Given the description of an element on the screen output the (x, y) to click on. 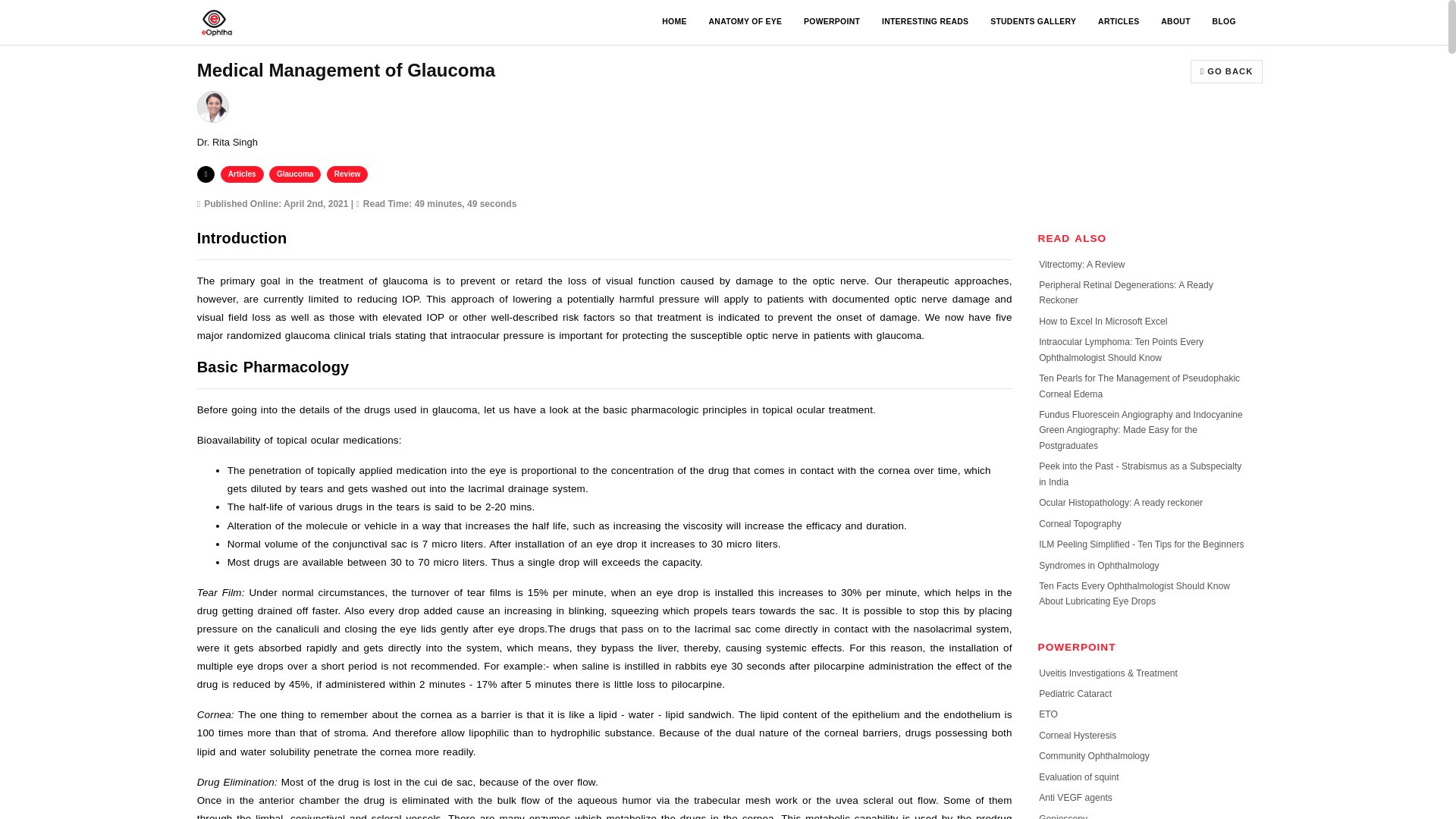
Peripheral Retinal Degenerations: A Ready Reckoner (1125, 292)
ARTICLES (1118, 21)
STUDENTS GALLERY (1032, 21)
HOME (674, 21)
Ten Pearls for The Management of Pseudophakic Corneal Edema (1139, 385)
INTERESTING READS (925, 21)
How to Excel In Microsoft Excel (1103, 321)
Articles (242, 174)
ABOUT (1175, 21)
